Given the description of an element on the screen output the (x, y) to click on. 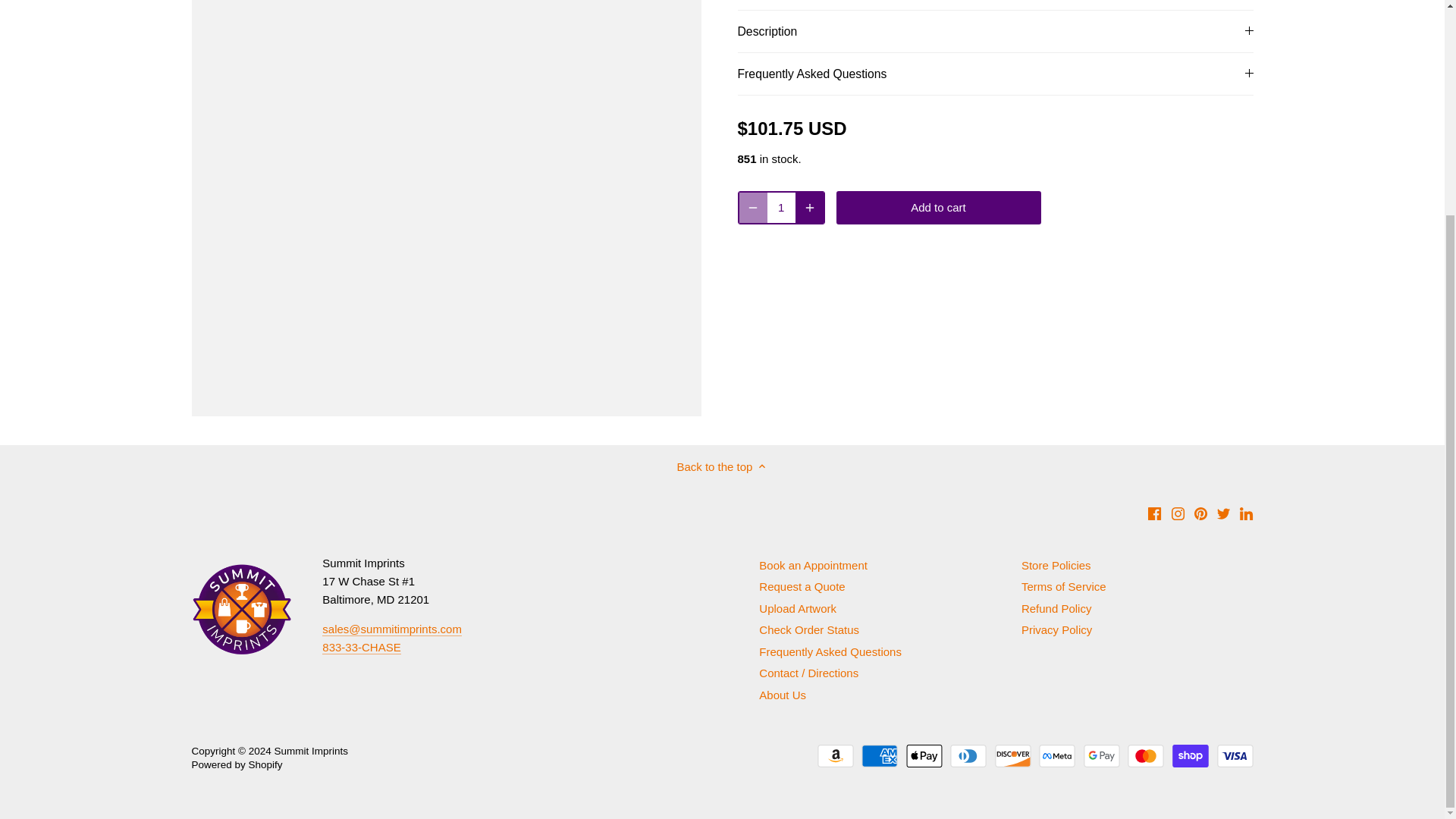
1 (781, 207)
Instagram (1178, 513)
Pinterest (1200, 513)
Facebook (1154, 513)
